Given the description of an element on the screen output the (x, y) to click on. 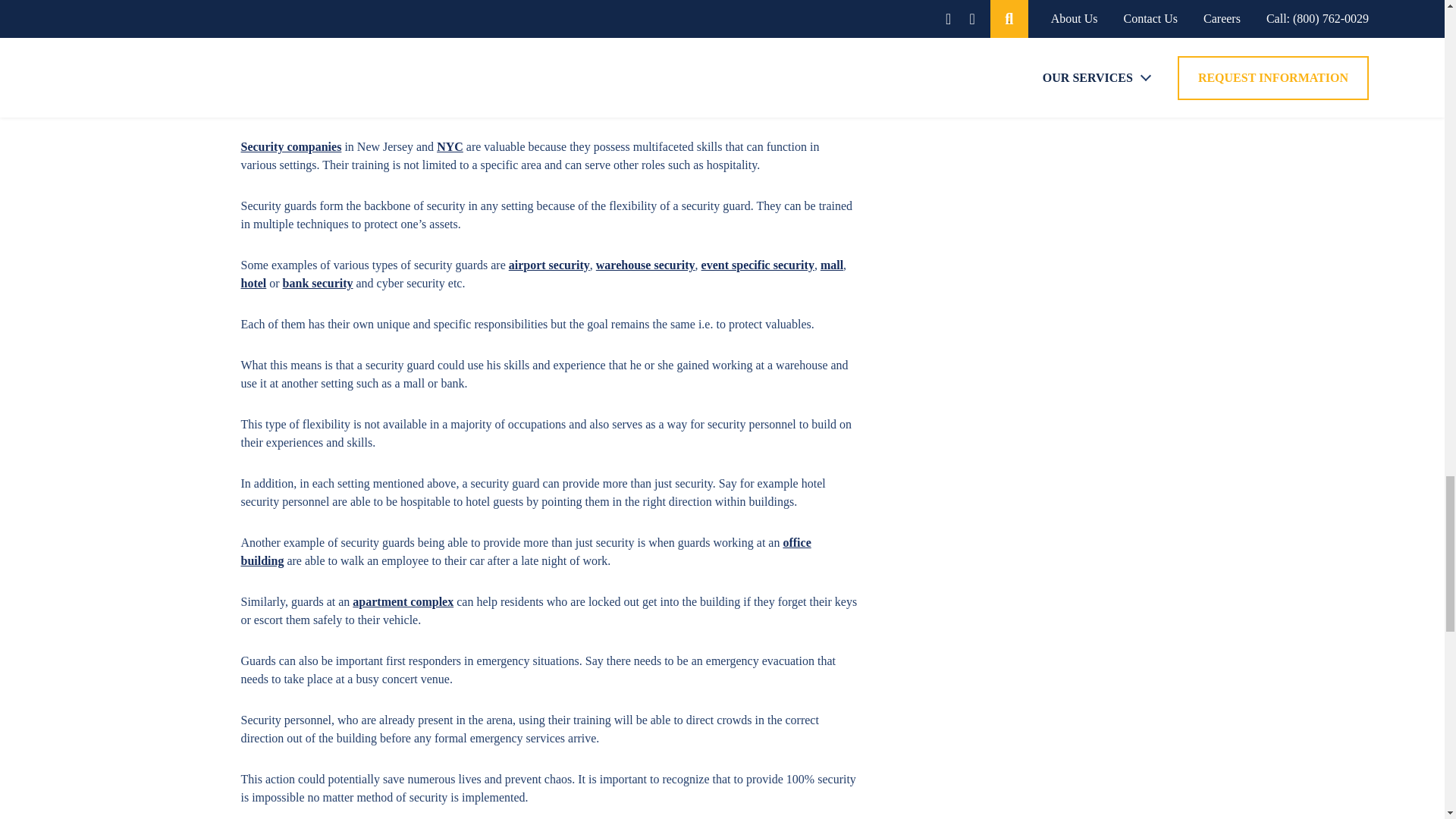
Security companies (291, 146)
monitor and protect assets (309, 105)
warehouse security (645, 264)
apartment complex (402, 601)
hotel (253, 282)
bank security (317, 282)
office building (525, 551)
airport security (548, 264)
event specific security (757, 264)
NYC (449, 146)
mall (832, 264)
